Given the description of an element on the screen output the (x, y) to click on. 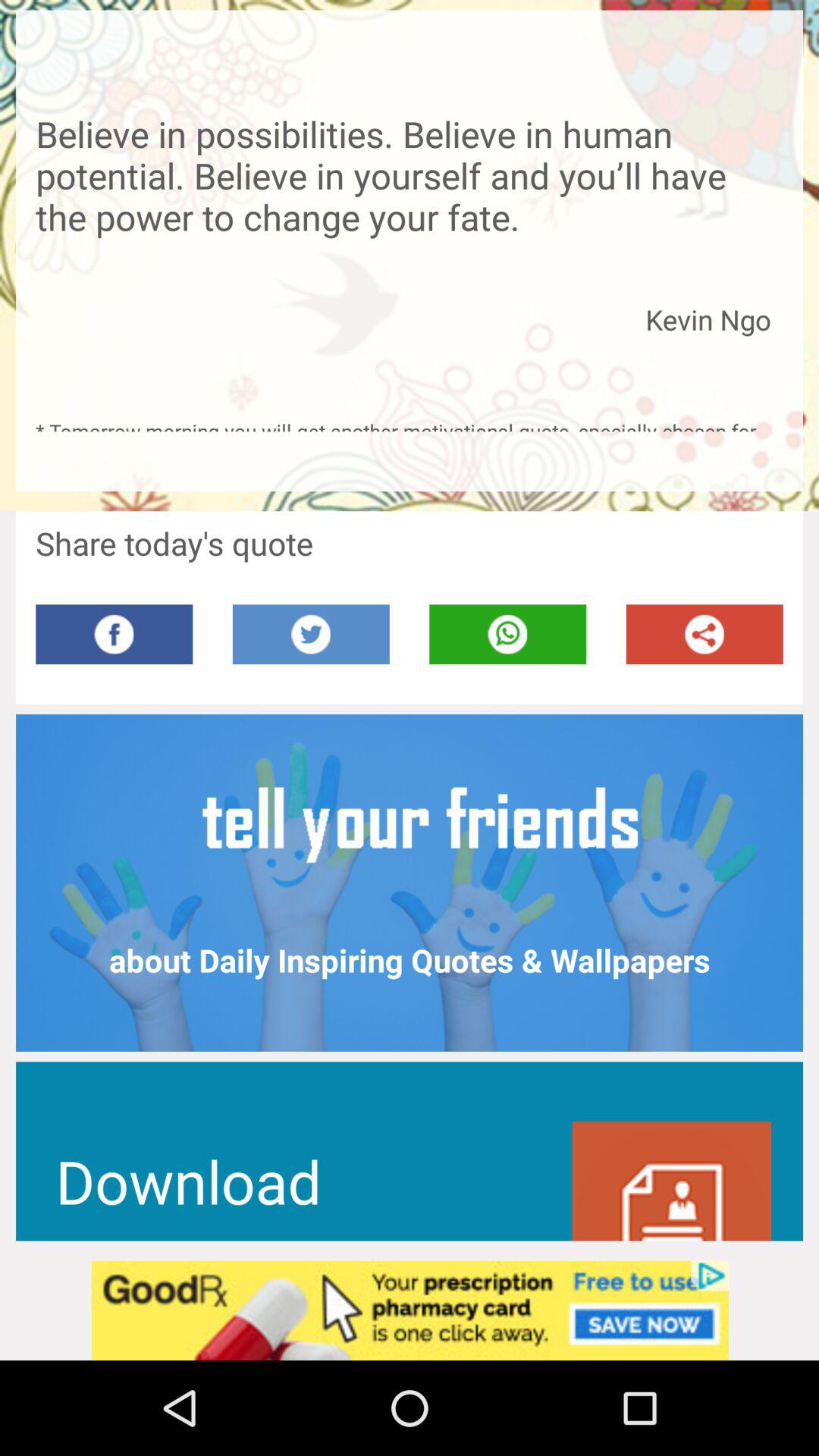
share on facebook (113, 634)
